Given the description of an element on the screen output the (x, y) to click on. 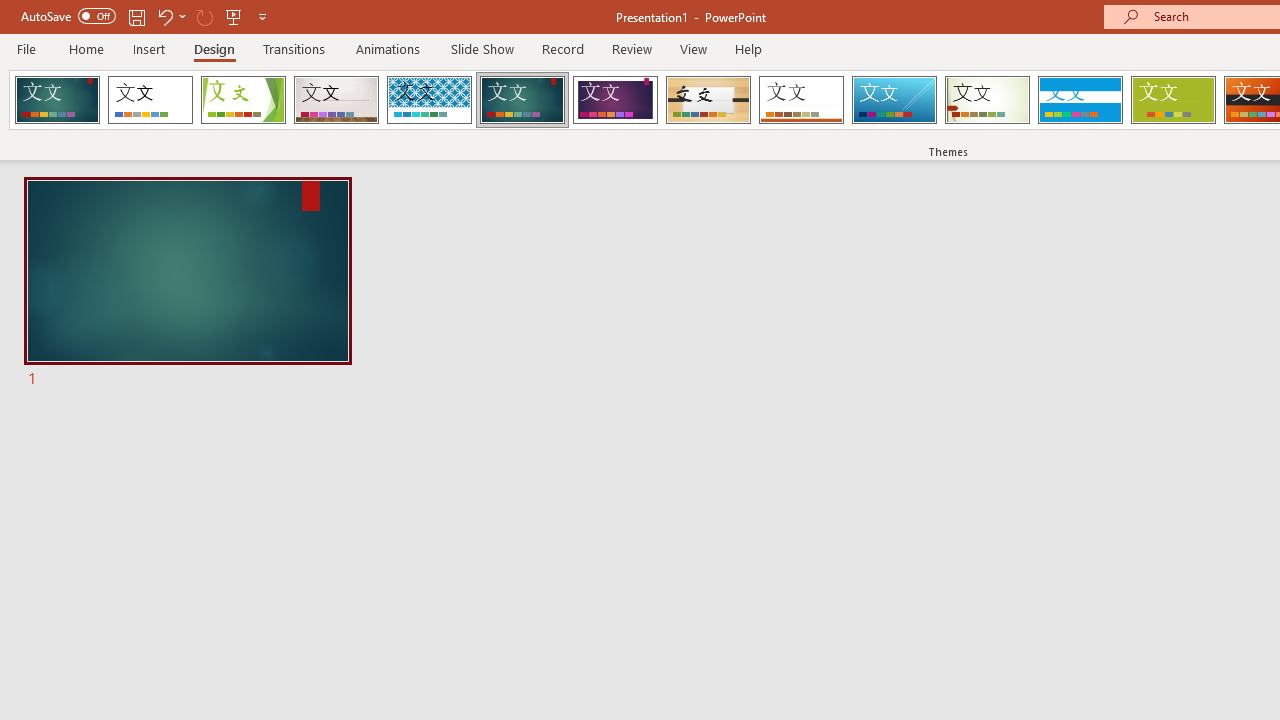
Wisp Loading Preview... (987, 100)
Slice Loading Preview... (893, 100)
